Given the description of an element on the screen output the (x, y) to click on. 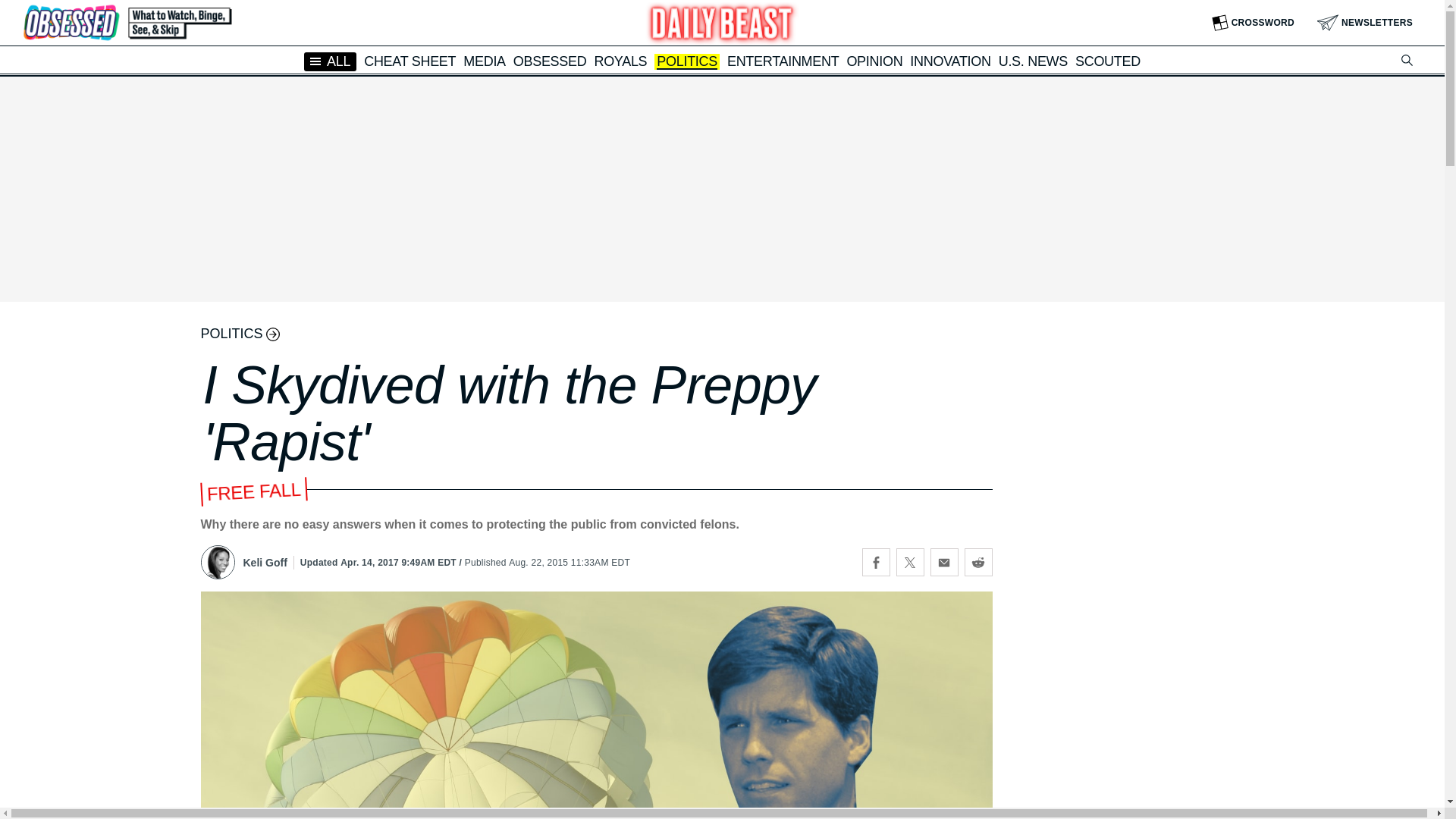
OBSESSED (549, 60)
INNOVATION (950, 60)
MEDIA (484, 60)
U.S. NEWS (1032, 60)
NEWSLETTERS (1364, 22)
ROYALS (620, 60)
ENTERTAINMENT (782, 60)
ALL (330, 60)
POLITICS (686, 61)
SCOUTED (1107, 60)
